Given the description of an element on the screen output the (x, y) to click on. 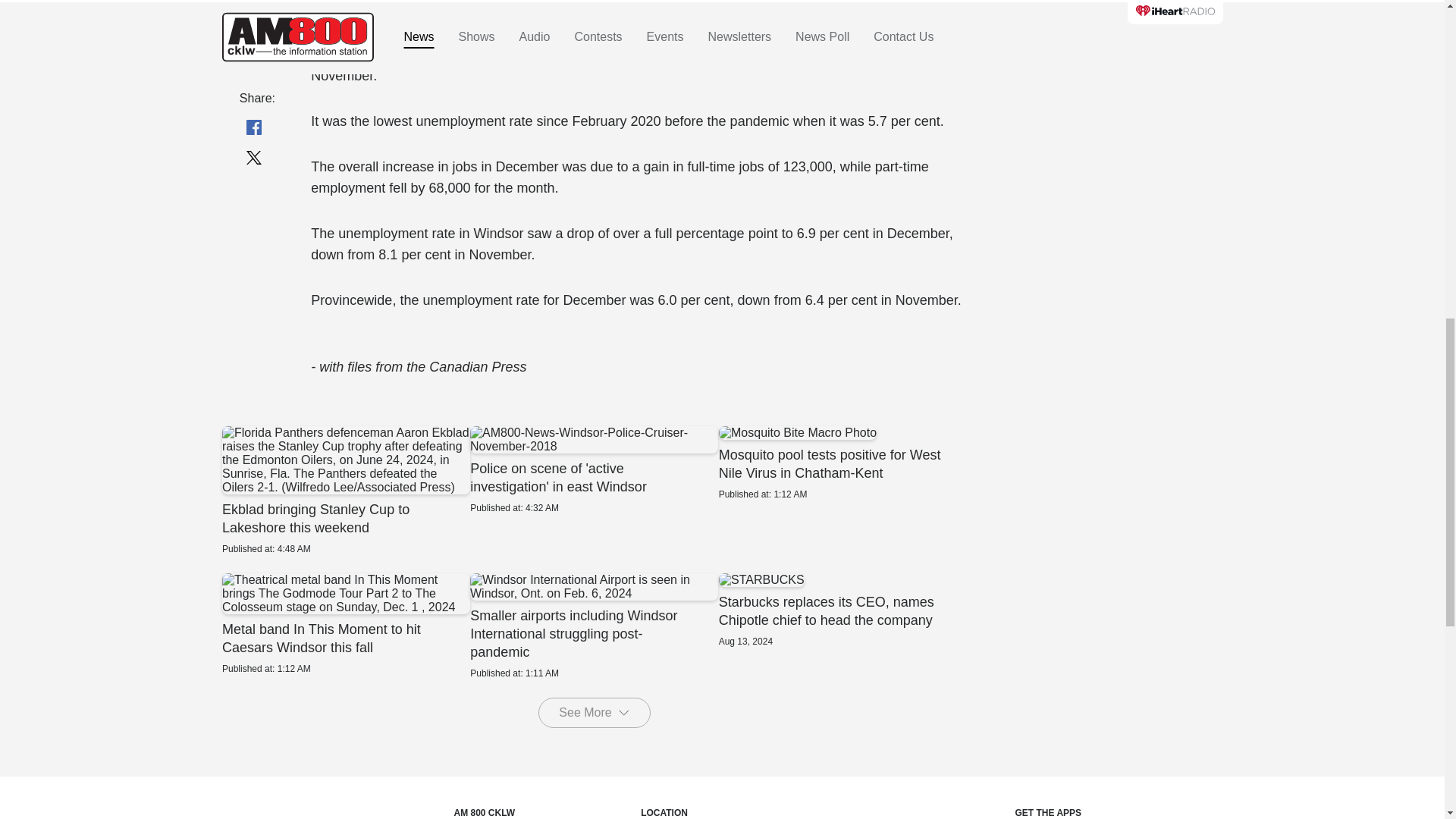
Police on scene of 'active investigation' in east Windsor (593, 469)
Metal band In This Moment to hit Caesars Windsor this fall (344, 623)
Ekblad bringing Stanley Cup to Lakeshore this weekend (344, 490)
See More (593, 712)
